Given the description of an element on the screen output the (x, y) to click on. 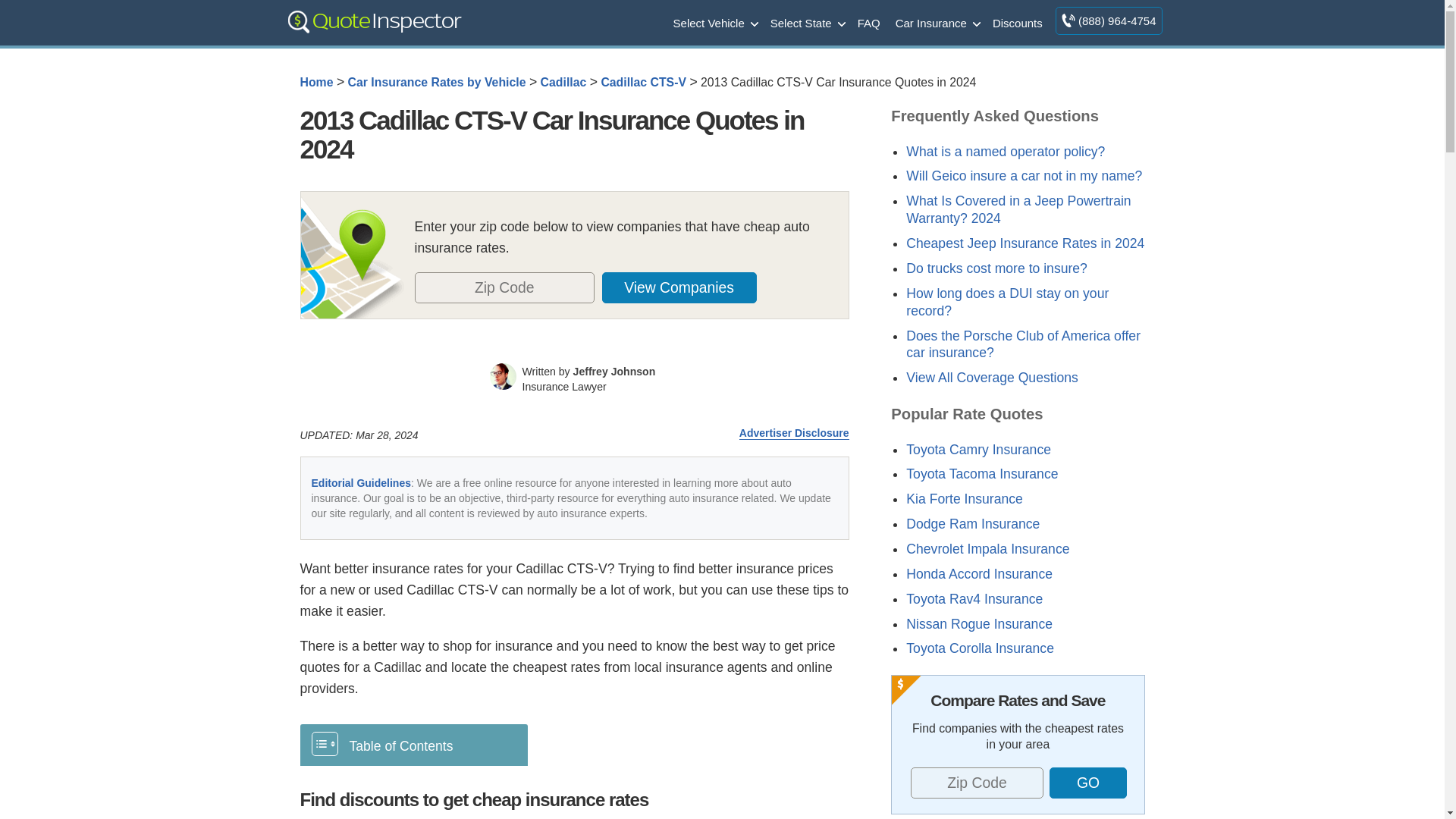
Tap to get your quotes! (1086, 782)
Zip Code must be filled out! (503, 287)
Cadillac (563, 82)
View Companies (679, 287)
Zip Code must be filled out! (977, 782)
Select State (806, 22)
Cadillac CTS-V (642, 82)
Home (316, 82)
Tap to get your quotes! (687, 287)
Select Vehicle (713, 22)
